Given the description of an element on the screen output the (x, y) to click on. 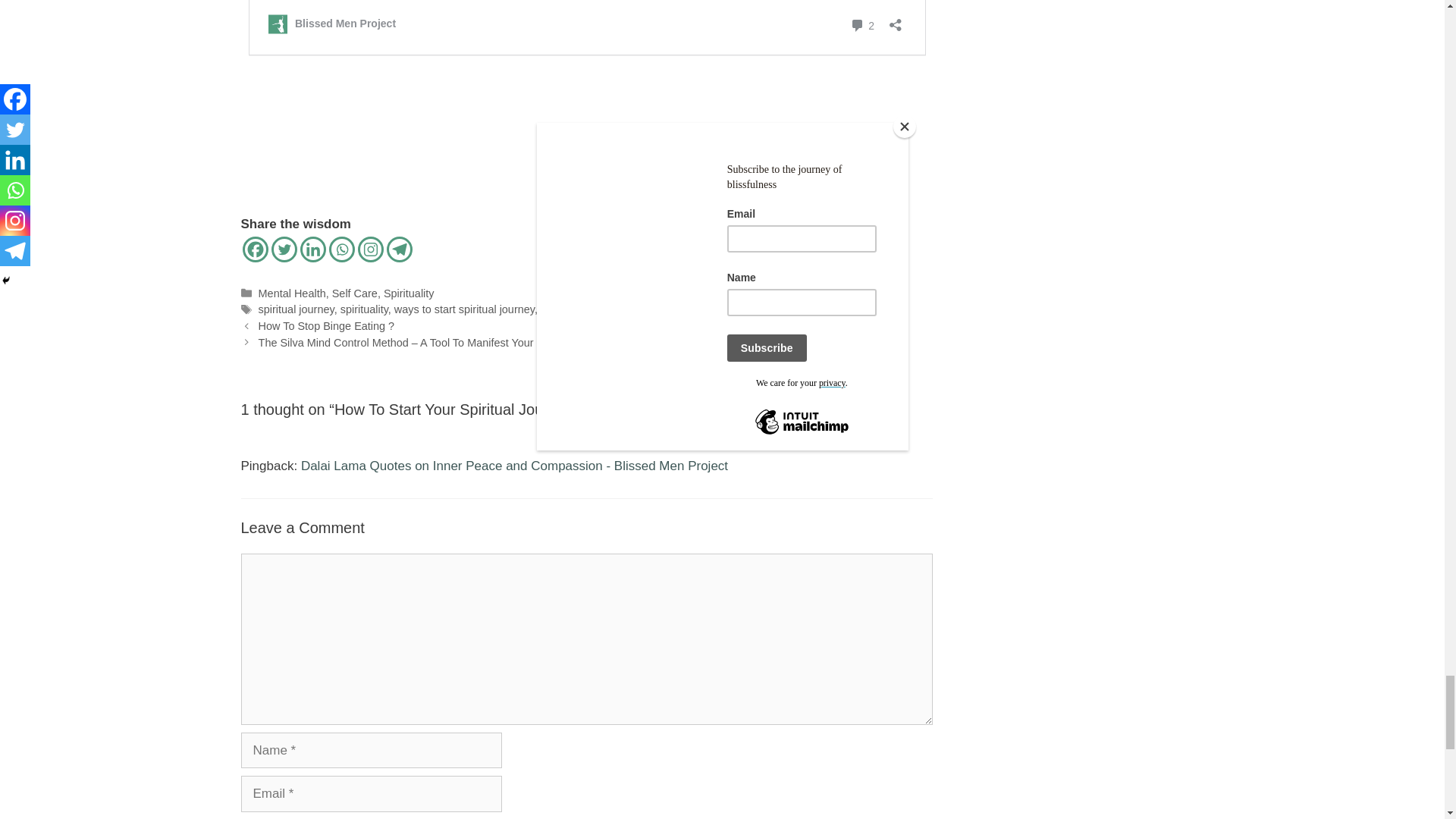
Facebook (255, 249)
Linkedin (312, 249)
Spirituality (408, 293)
Self Care (354, 293)
Twitter (283, 249)
Mental Health (292, 293)
Whatsapp (342, 249)
